Given the description of an element on the screen output the (x, y) to click on. 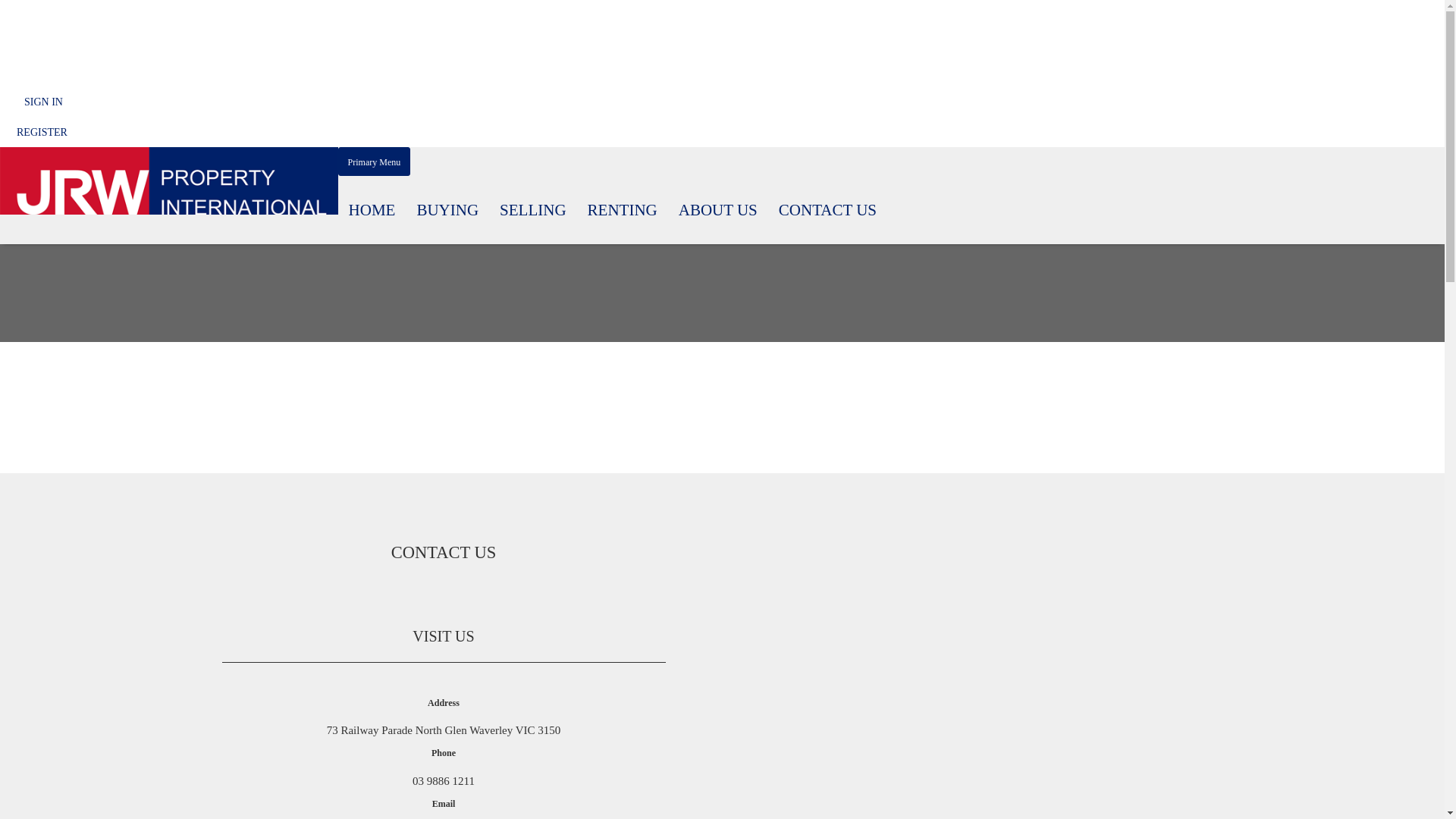
03 9886 1211 Element type: text (443, 781)
SIGN IN Element type: text (43, 102)
CONTACT US Element type: text (827, 209)
RENTING Element type: text (622, 209)
ABOUT US Element type: text (718, 209)
REGISTER Element type: text (41, 132)
Home Element type: text (30, 188)
SELLING Element type: text (533, 209)
BUYING Element type: text (447, 209)
Primary Menu Element type: text (374, 161)
HOME Element type: text (372, 209)
